Given the description of an element on the screen output the (x, y) to click on. 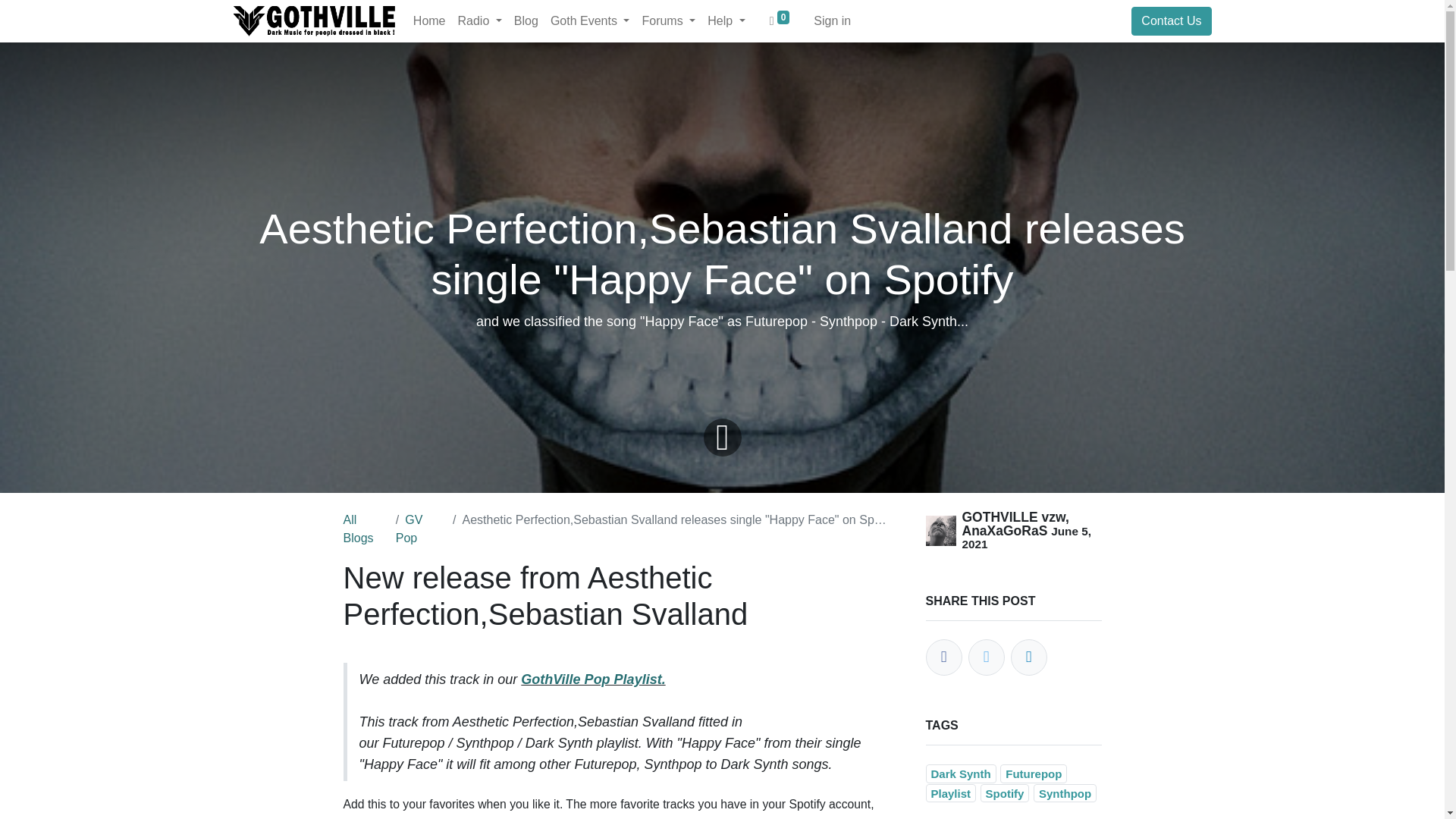
Home (429, 20)
Goth Events (590, 20)
GothVille Community (313, 20)
Contact Us (1171, 21)
0 (779, 20)
All Blogs (357, 528)
Help (726, 20)
GothVille Pop Playlist. (593, 679)
Forums (667, 20)
Radio (479, 20)
Blog (526, 20)
Sign in (832, 20)
